Given the description of an element on the screen output the (x, y) to click on. 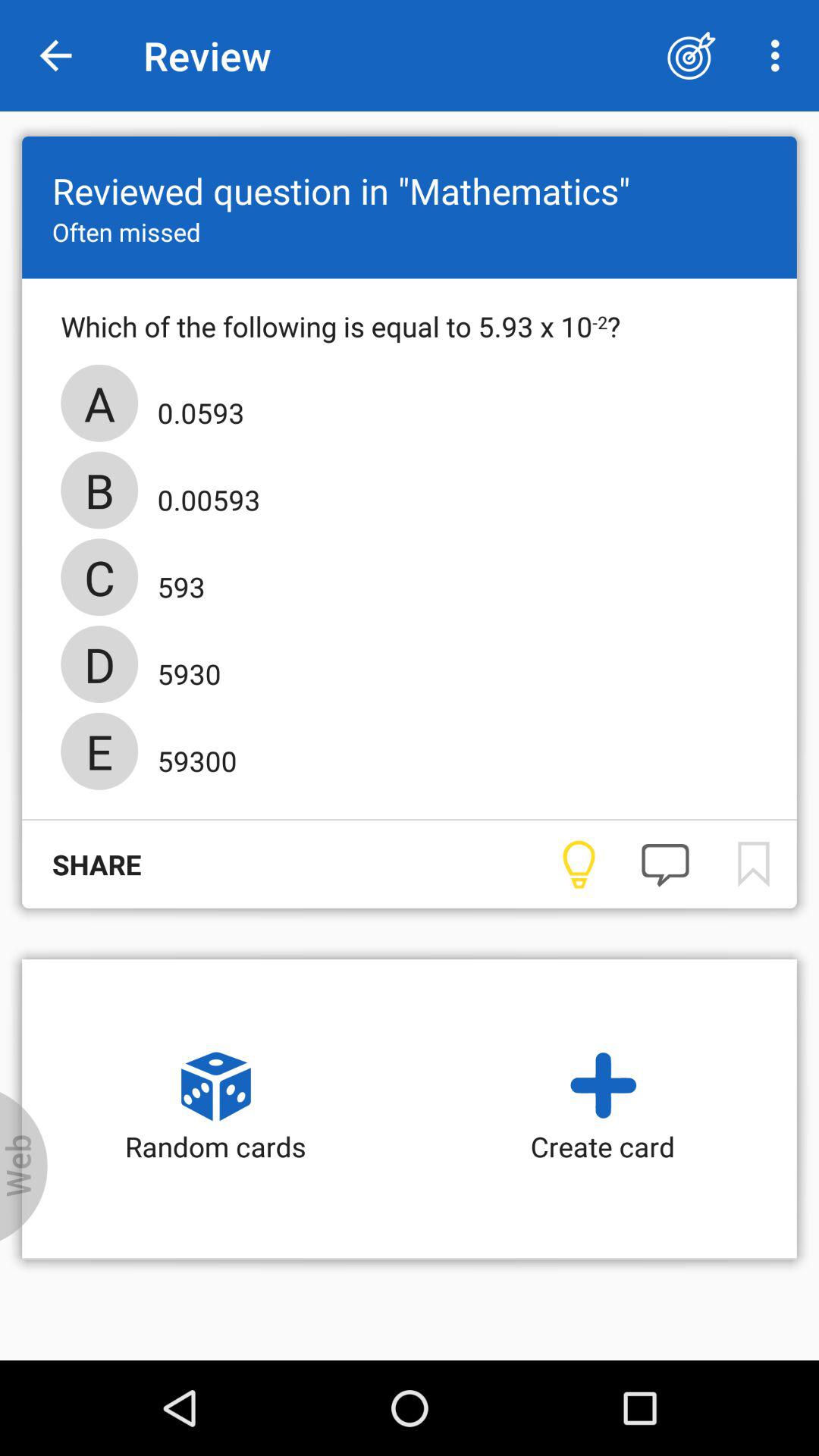
turn off the icon below d icon (192, 755)
